Given the description of an element on the screen output the (x, y) to click on. 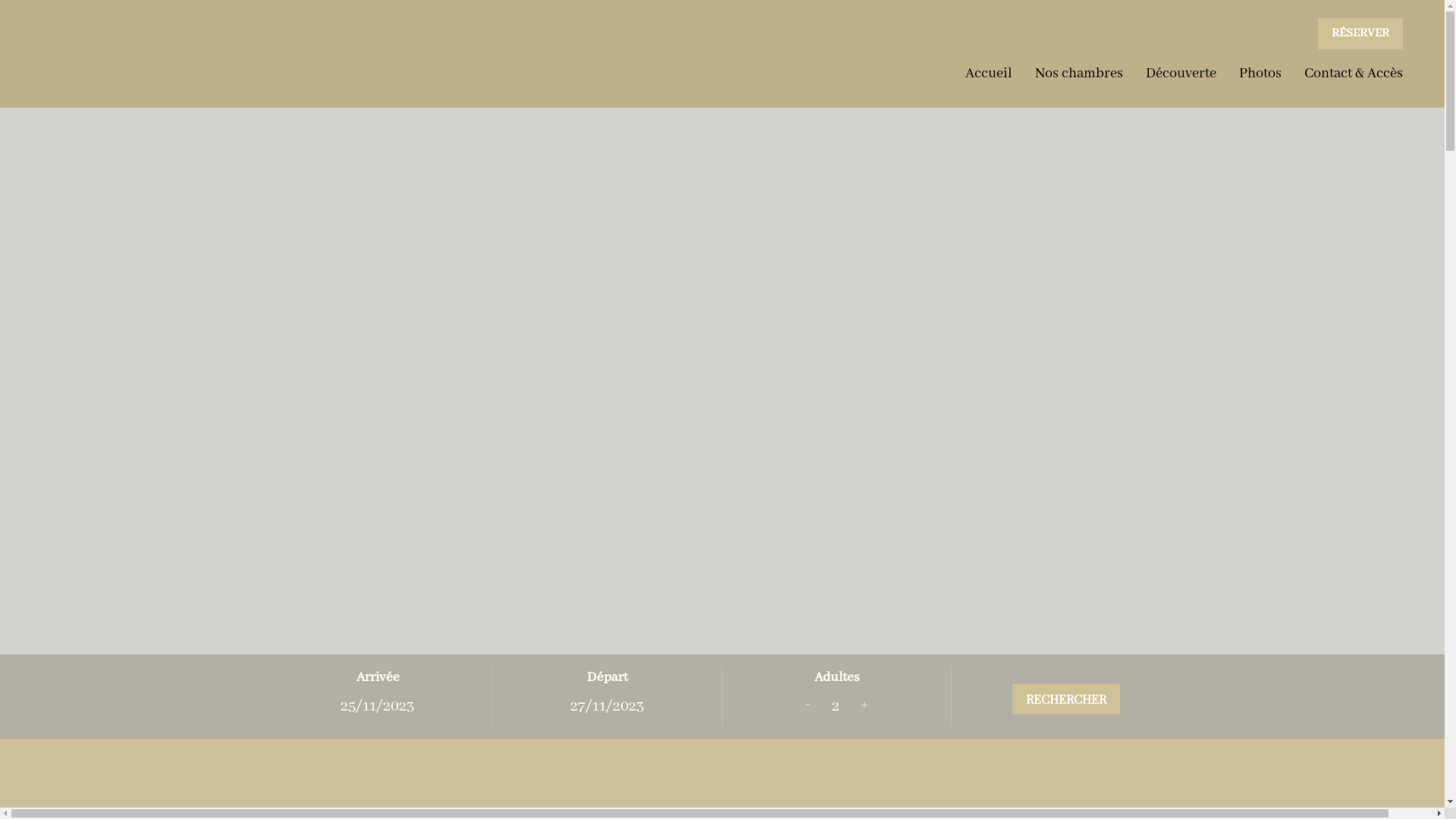
RECHERCHER Element type: text (1066, 699)
Accueil Element type: text (988, 73)
Photos Element type: text (1260, 73)
Nos chambres Element type: text (1079, 73)
